Given the description of an element on the screen output the (x, y) to click on. 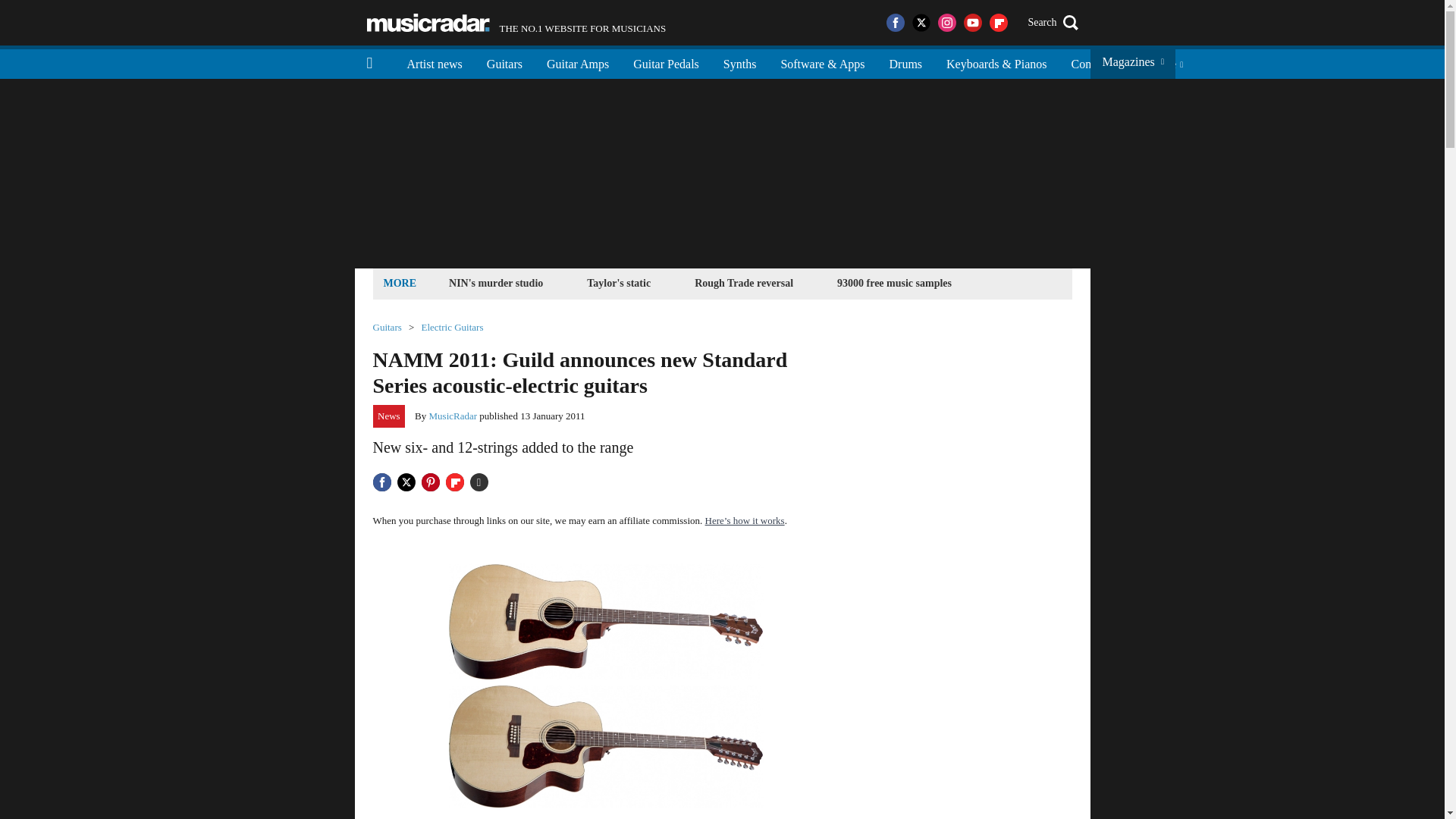
Synths (739, 61)
Taylor's static (618, 282)
Rough Trade reversal (742, 282)
Guitar Amps (577, 61)
Controllers (1097, 61)
Artist news (516, 22)
Guitar Pedals (434, 61)
NIN's murder studio (666, 61)
Music Radar (496, 282)
